Given the description of an element on the screen output the (x, y) to click on. 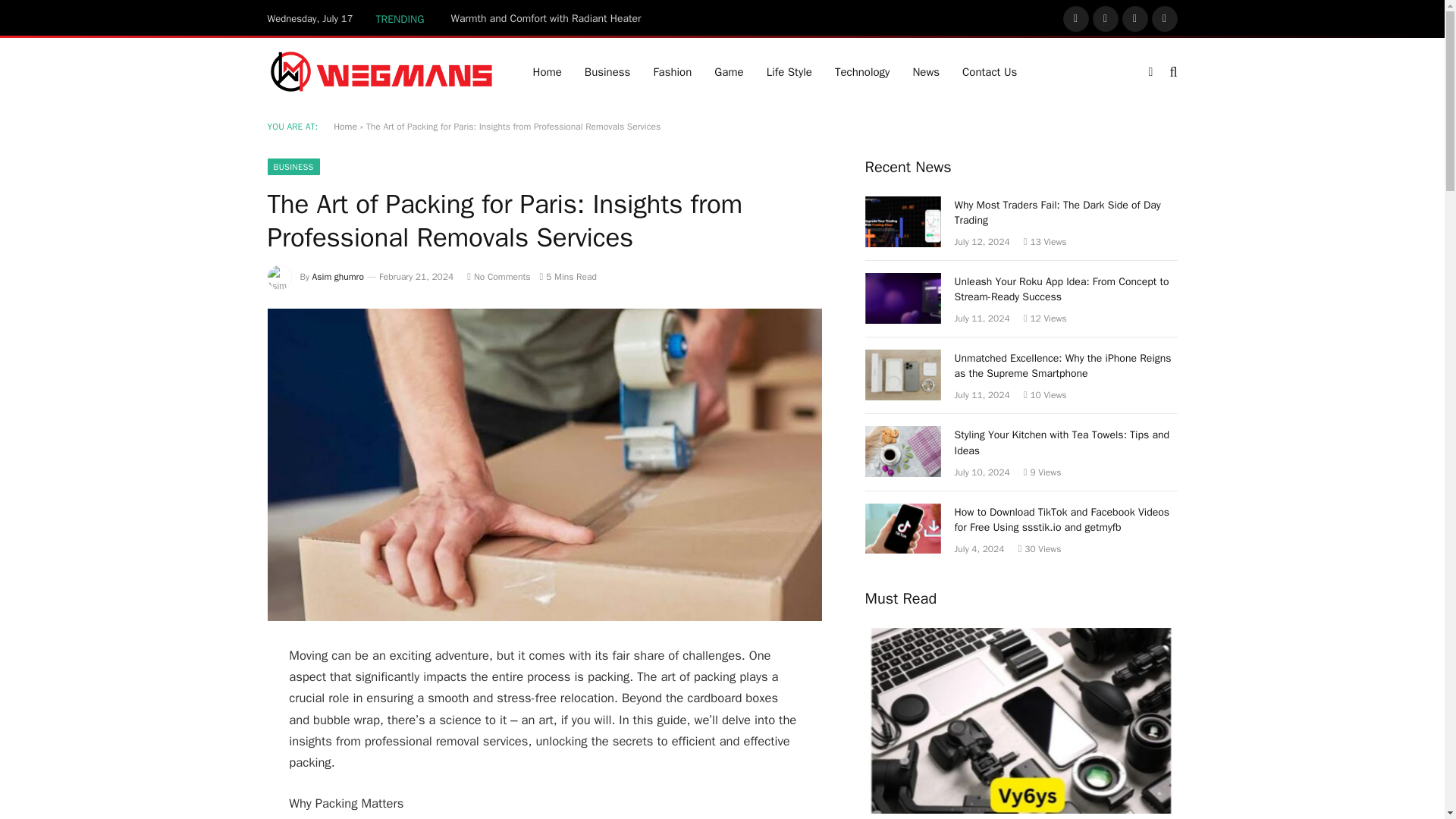
Pinterest (1163, 18)
Technology (862, 71)
BUSINESS (292, 166)
No Comments (498, 276)
Posts by Asim ghumro (338, 276)
Instagram (1135, 18)
Switch to Dark Design - easier on eyes. (1149, 70)
Fashion (672, 71)
Life Style (789, 71)
Asim ghumro (338, 276)
Contact Us (988, 71)
Business (607, 71)
Home (344, 126)
Facebook (1075, 18)
